Given the description of an element on the screen output the (x, y) to click on. 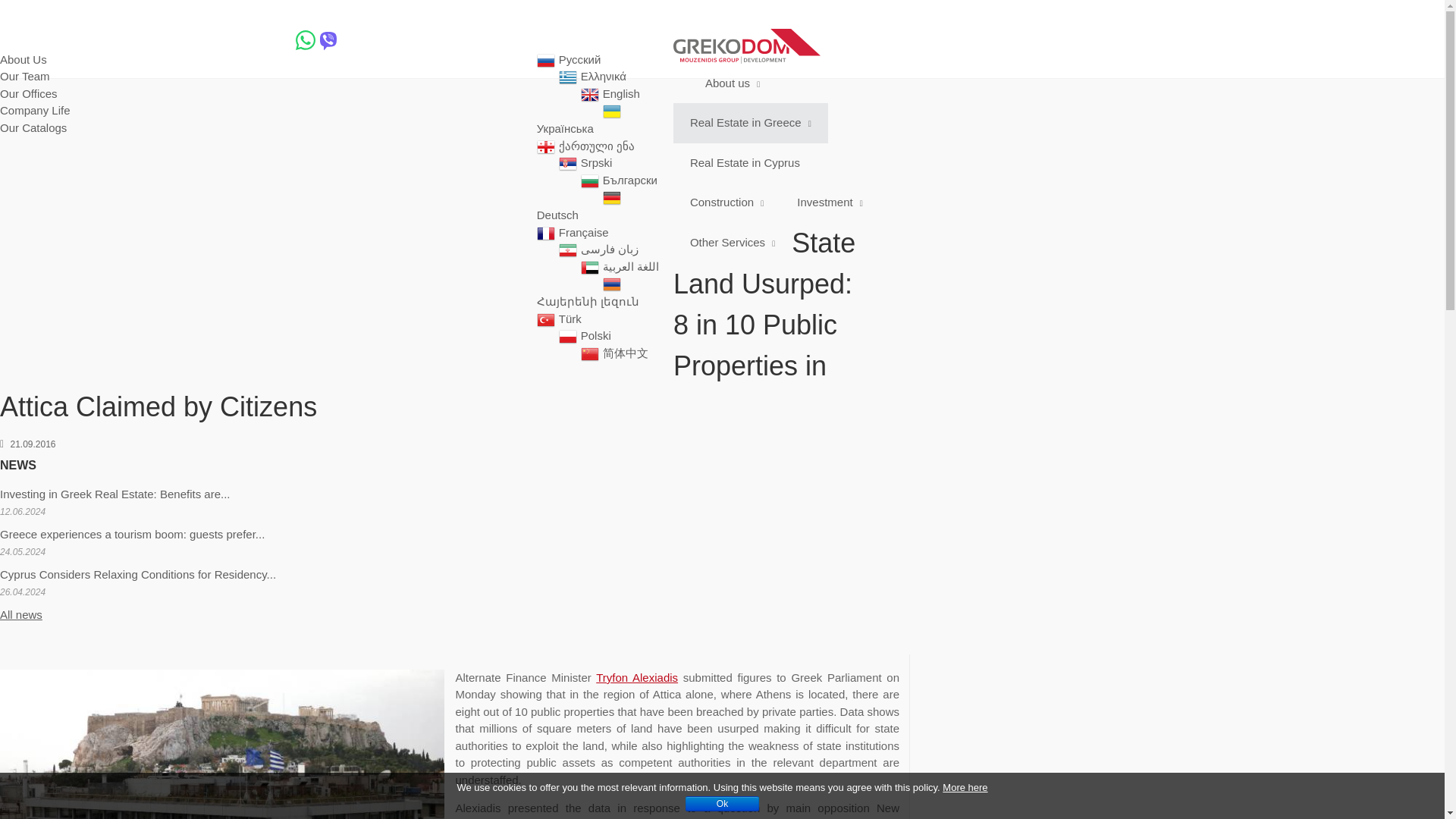
Our Team (24, 75)
English (627, 92)
Callback (373, 39)
Polski (601, 335)
Company Life (34, 110)
Our Offices (29, 92)
Our Catalogs (33, 127)
About Us (23, 59)
Deutsch (564, 214)
Request a property (126, 39)
Srpski (602, 162)
About us (34, 39)
